Given the description of an element on the screen output the (x, y) to click on. 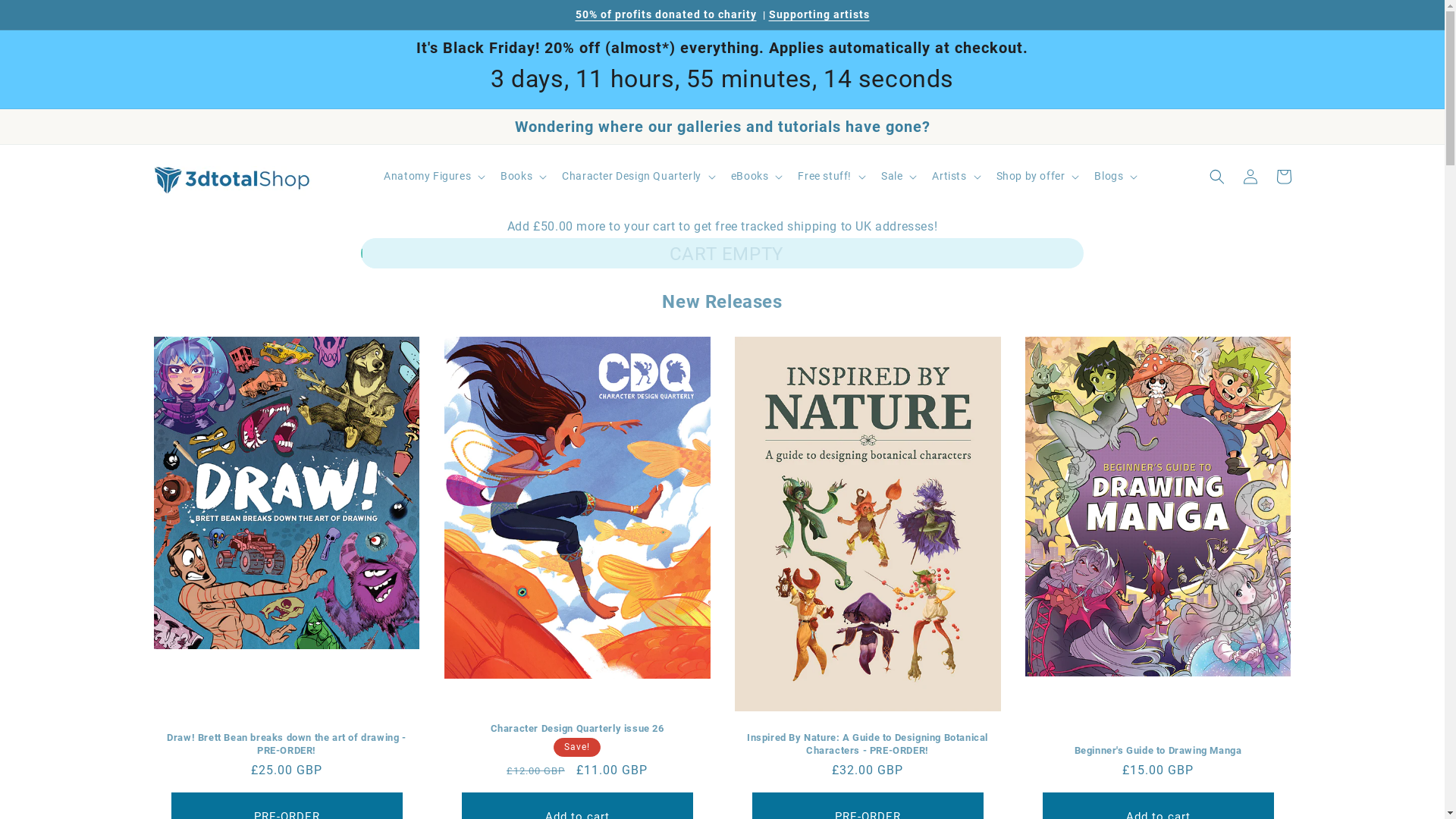
Cart Element type: text (1282, 176)
50% of profits donated to charity Element type: text (665, 14)
Beginner's Guide to Drawing Manga Element type: text (1157, 750)
Draw! Brett Bean breaks down the art of drawing - PRE-ORDER! Element type: text (285, 744)
Supporting artists Element type: text (818, 14)
Wondering where our galleries and tutorials have gone? Element type: text (722, 126)
Character Design Quarterly issue 26 Element type: text (576, 728)
Log in Element type: text (1249, 176)
